Given the description of an element on the screen output the (x, y) to click on. 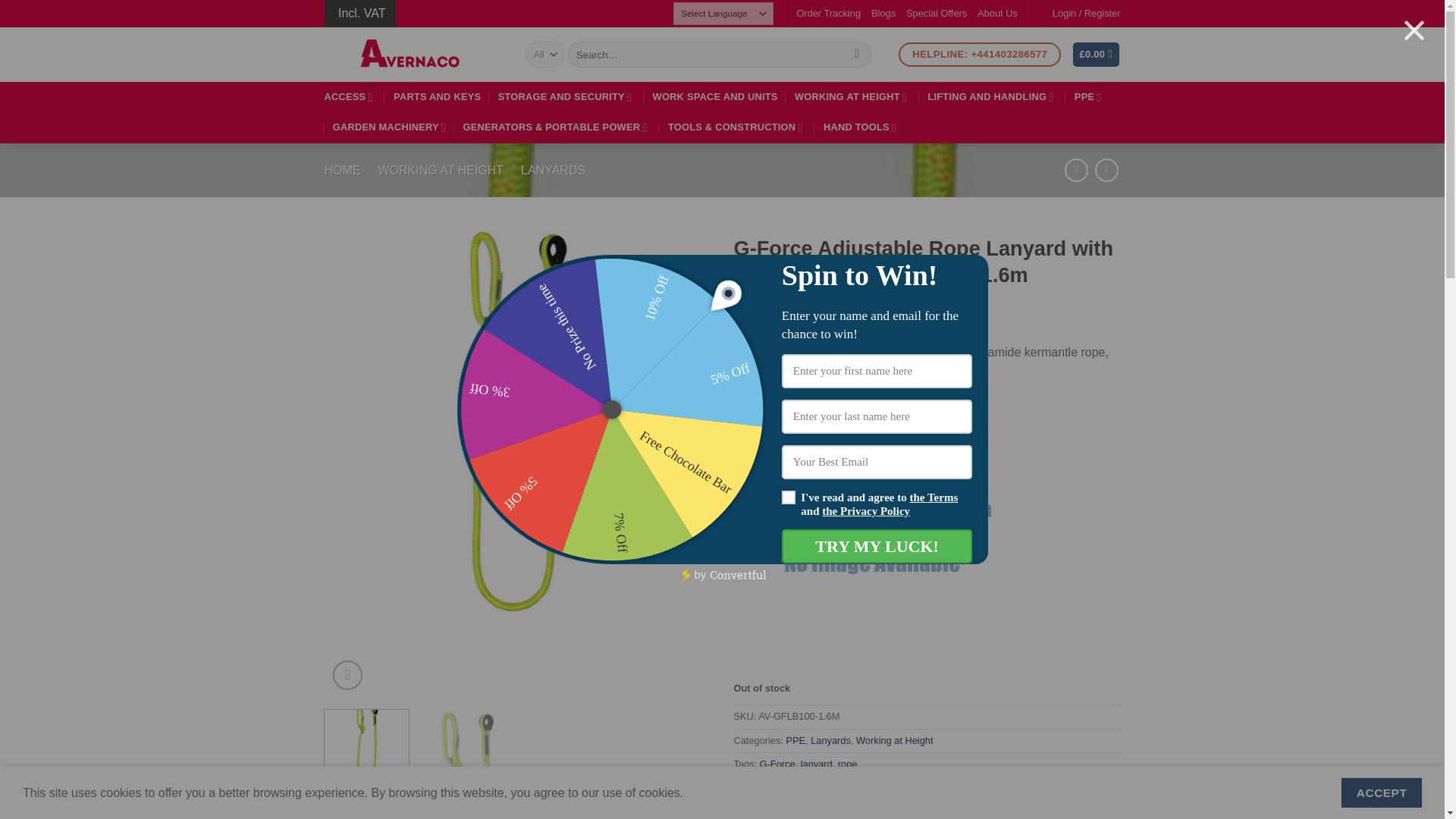
Search (856, 54)
Incl. VAT (360, 13)
WORK SPACE AND UNITS (714, 96)
ACCESS (350, 96)
Order Tracking (828, 13)
STORAGE AND SECURITY (566, 96)
About Us (996, 13)
LIFTING AND HANDLING (992, 96)
View brand (755, 807)
Zoom (347, 675)
PARTS AND KEYS (436, 96)
Special Offers (935, 13)
Blogs (882, 13)
PPE (1089, 96)
